Given the description of an element on the screen output the (x, y) to click on. 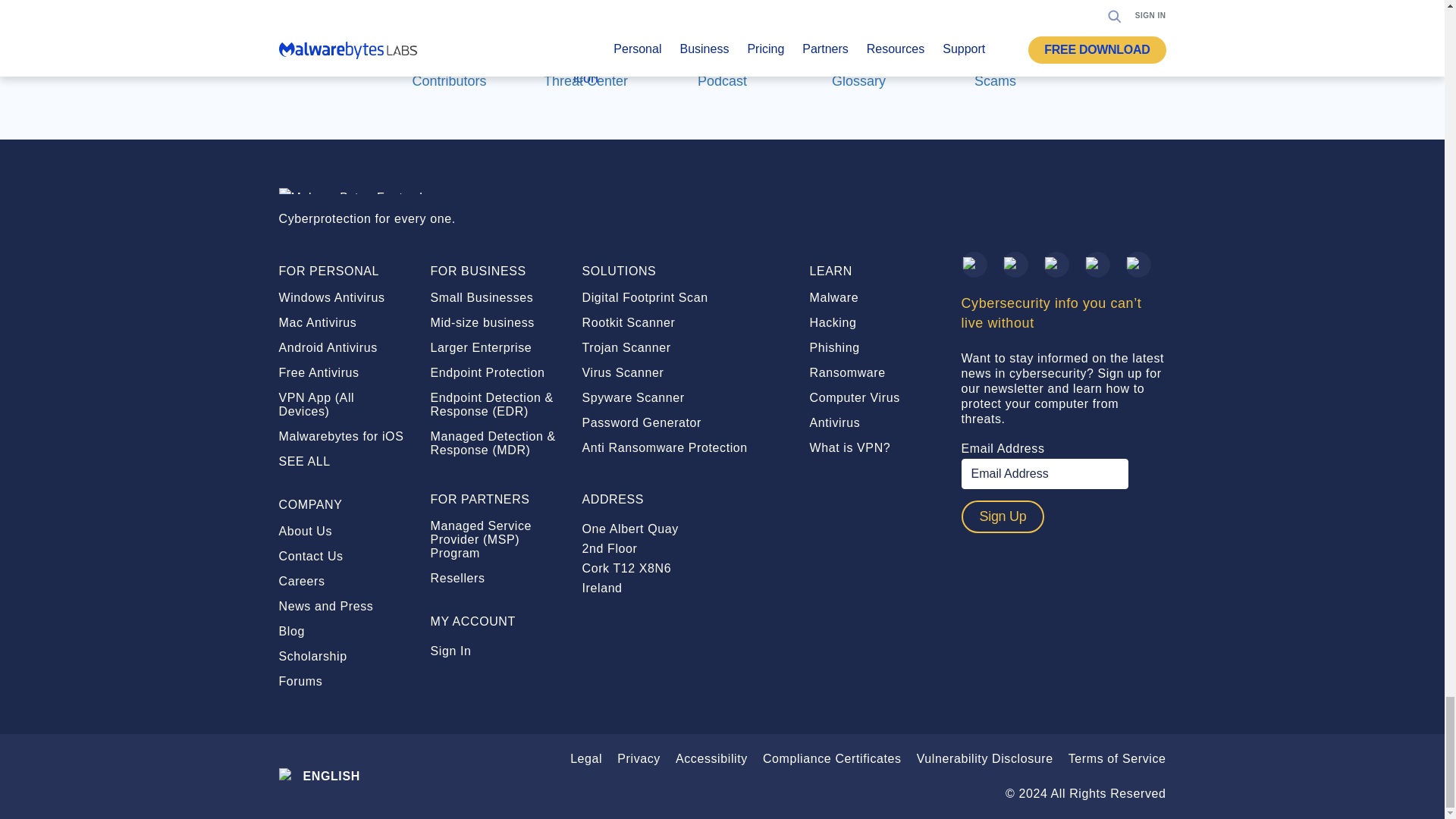
Sign Up (1002, 516)
